Given the description of an element on the screen output the (x, y) to click on. 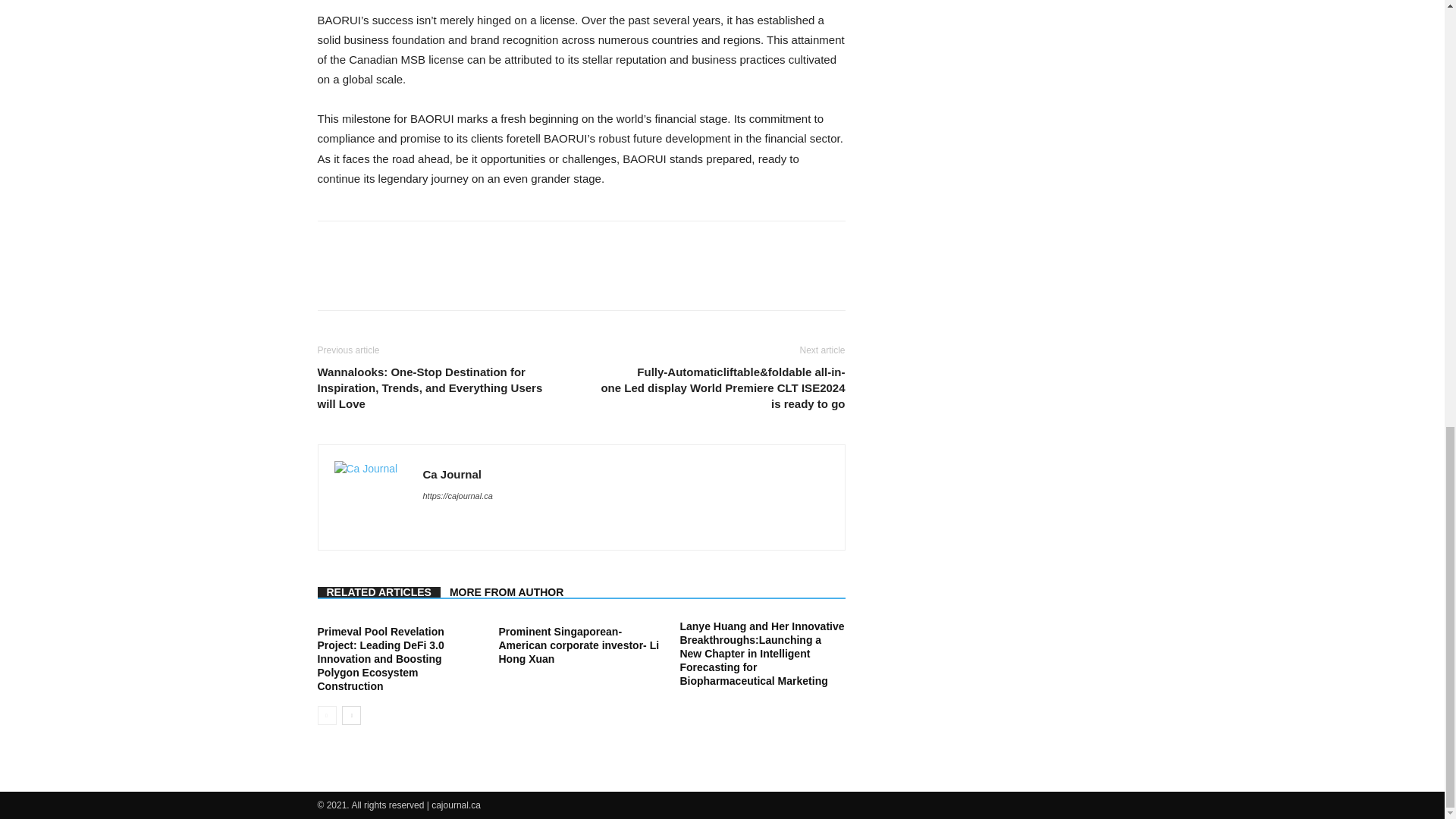
bottomFacebookLike (430, 245)
Ca Journal (452, 473)
RELATED ARTICLES (378, 592)
MORE FROM AUTHOR (506, 592)
